Given the description of an element on the screen output the (x, y) to click on. 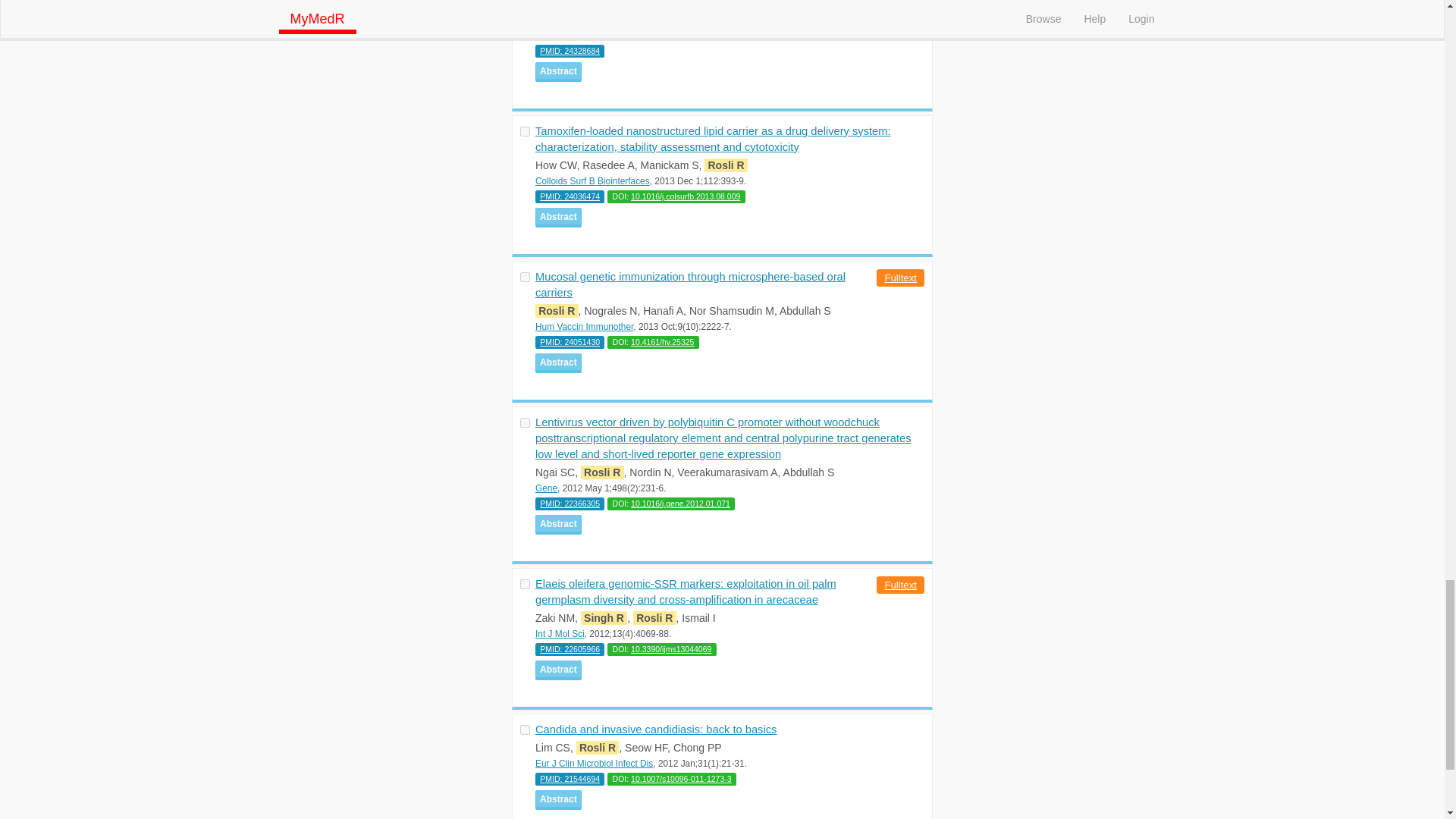
on (524, 276)
on (524, 583)
on (524, 131)
on (524, 422)
